Given the description of an element on the screen output the (x, y) to click on. 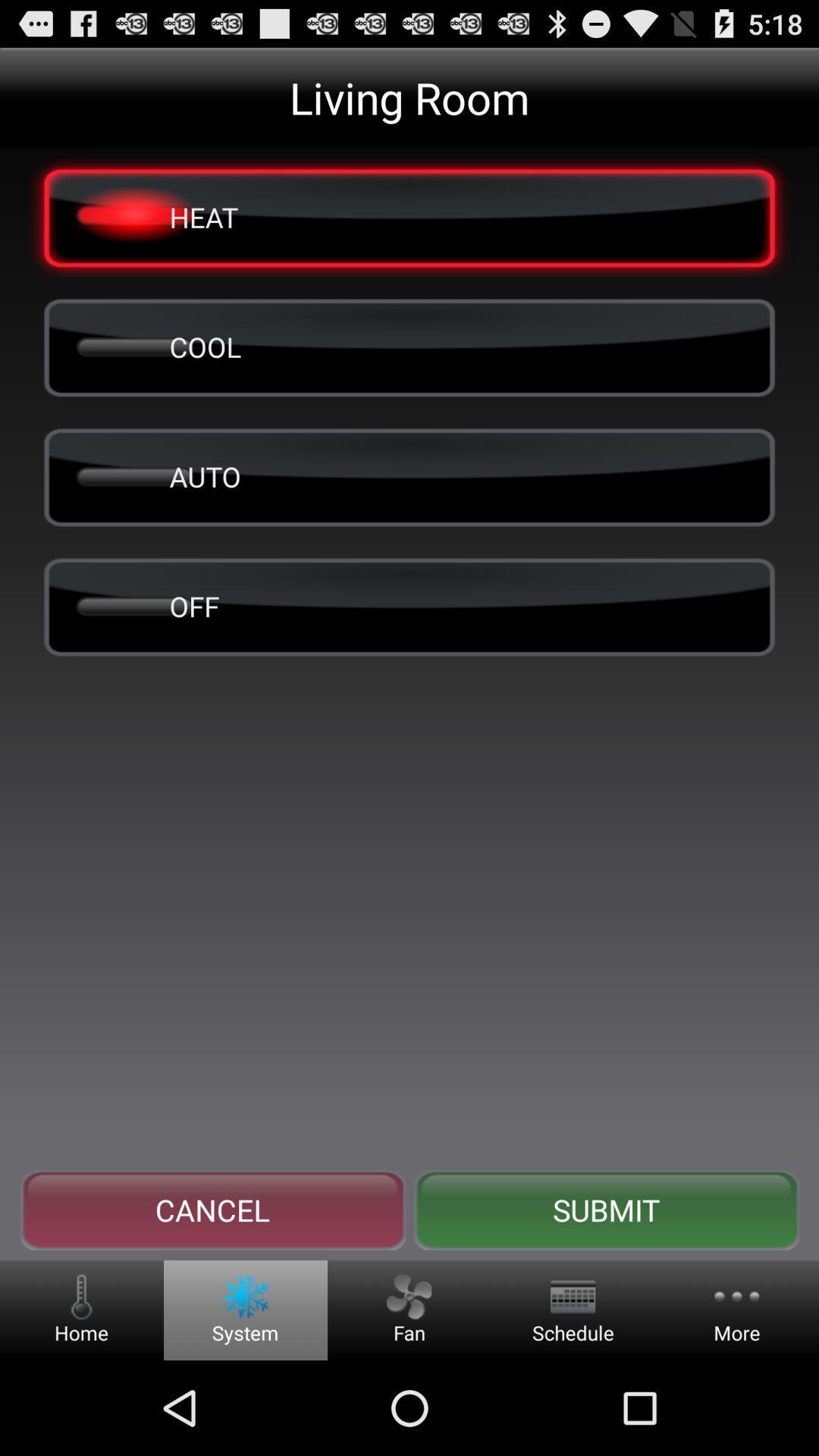
turn on item above auto button (409, 346)
